Given the description of an element on the screen output the (x, y) to click on. 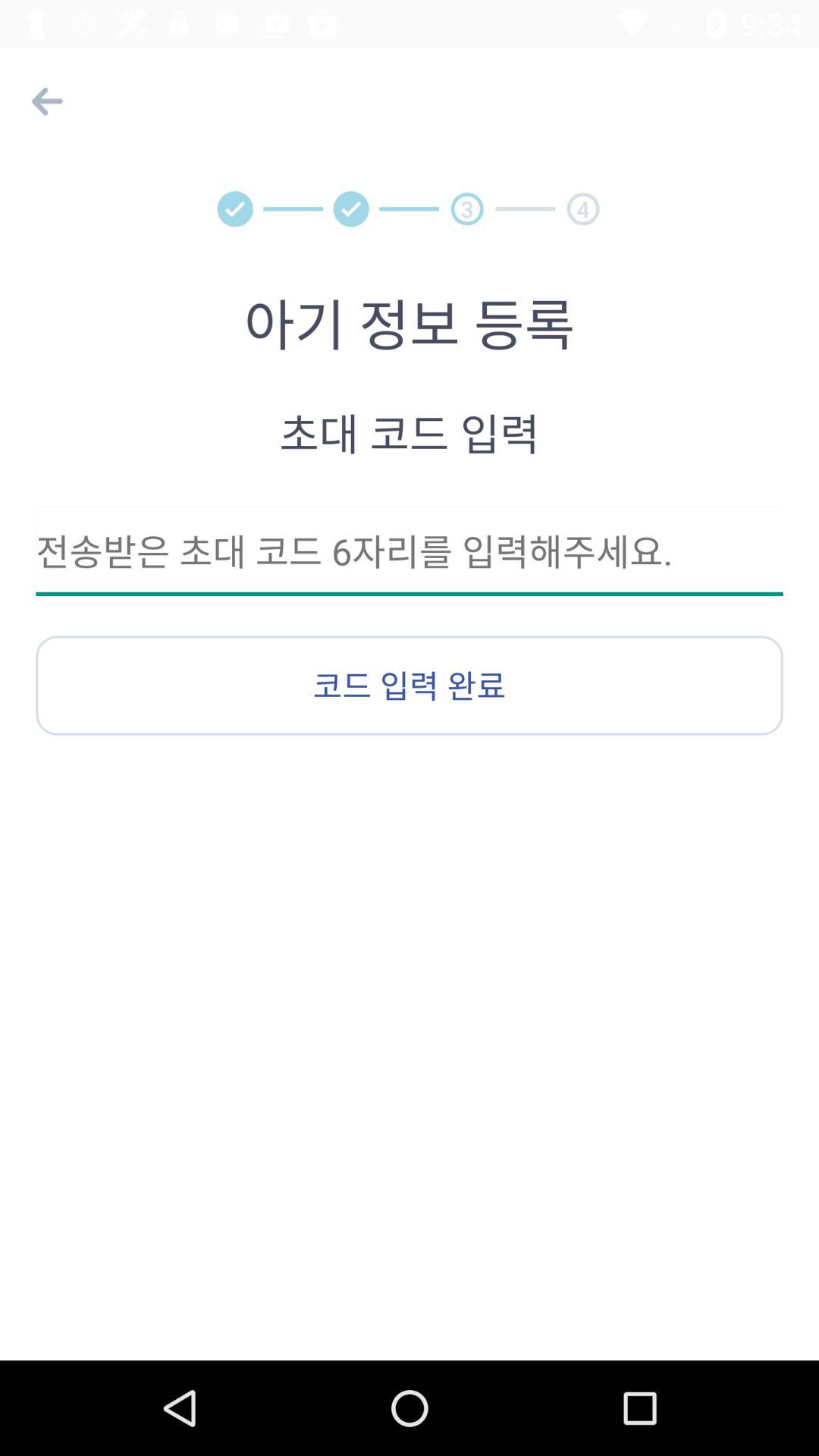
field to input requested information (409, 551)
